Given the description of an element on the screen output the (x, y) to click on. 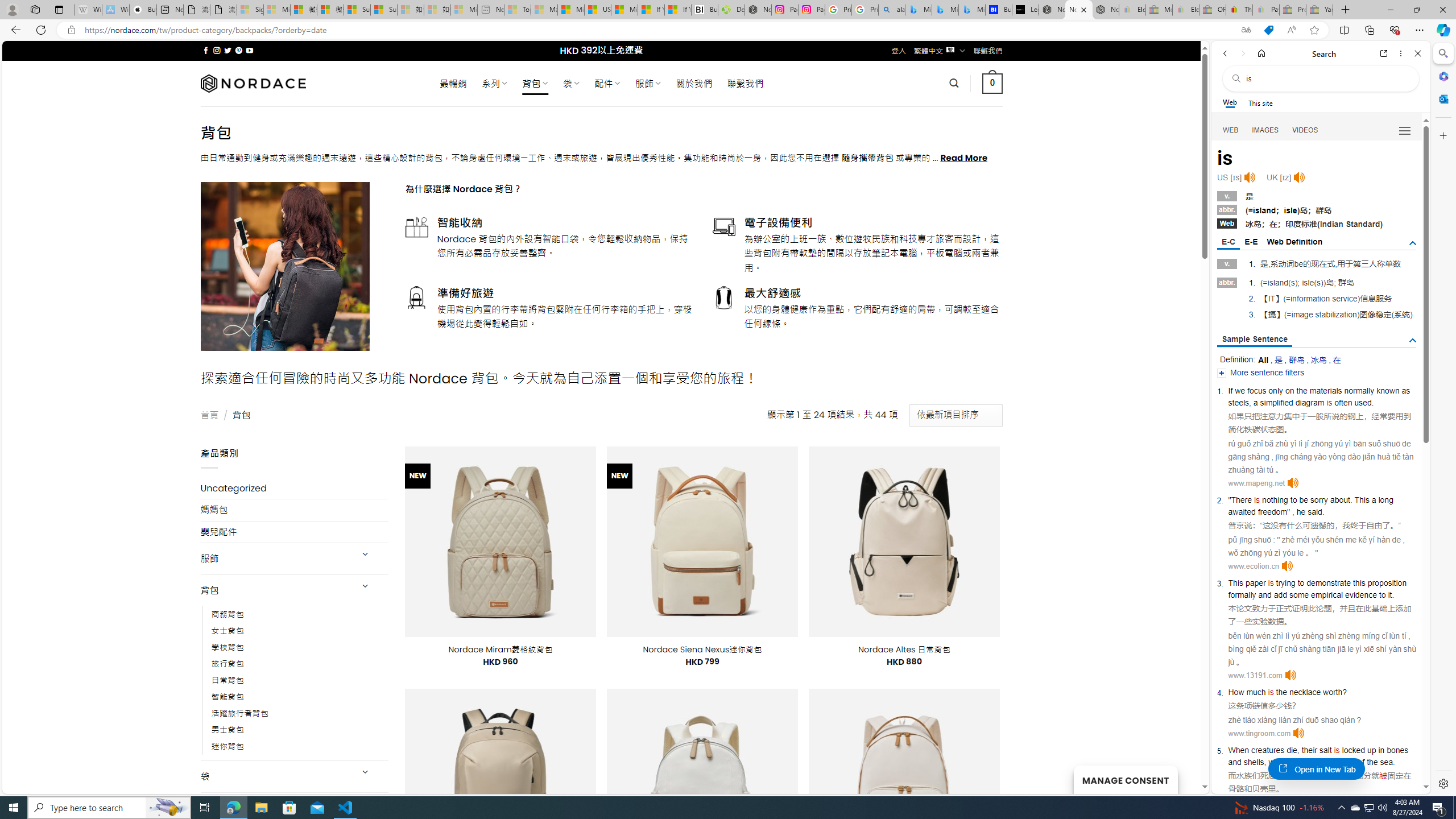
formally (1241, 594)
Press Room - eBay Inc. - Sleeping (1292, 9)
